Given the description of an element on the screen output the (x, y) to click on. 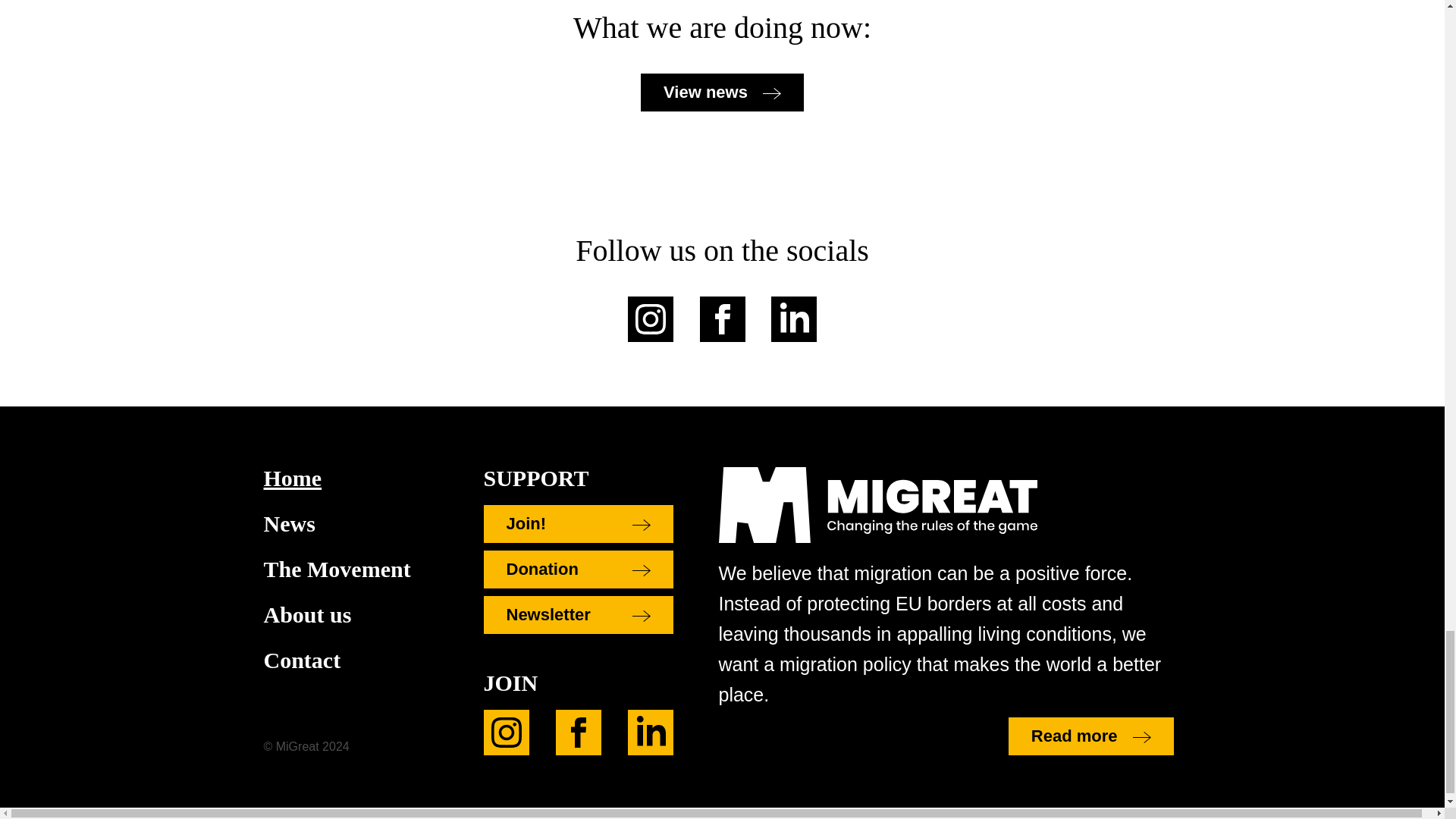
Join! (577, 523)
Newsletter (577, 614)
Contact (350, 660)
Donation (577, 569)
The Movement (350, 568)
About us (350, 614)
Home (350, 477)
News (350, 523)
View news (721, 92)
Read more (1091, 736)
